Given the description of an element on the screen output the (x, y) to click on. 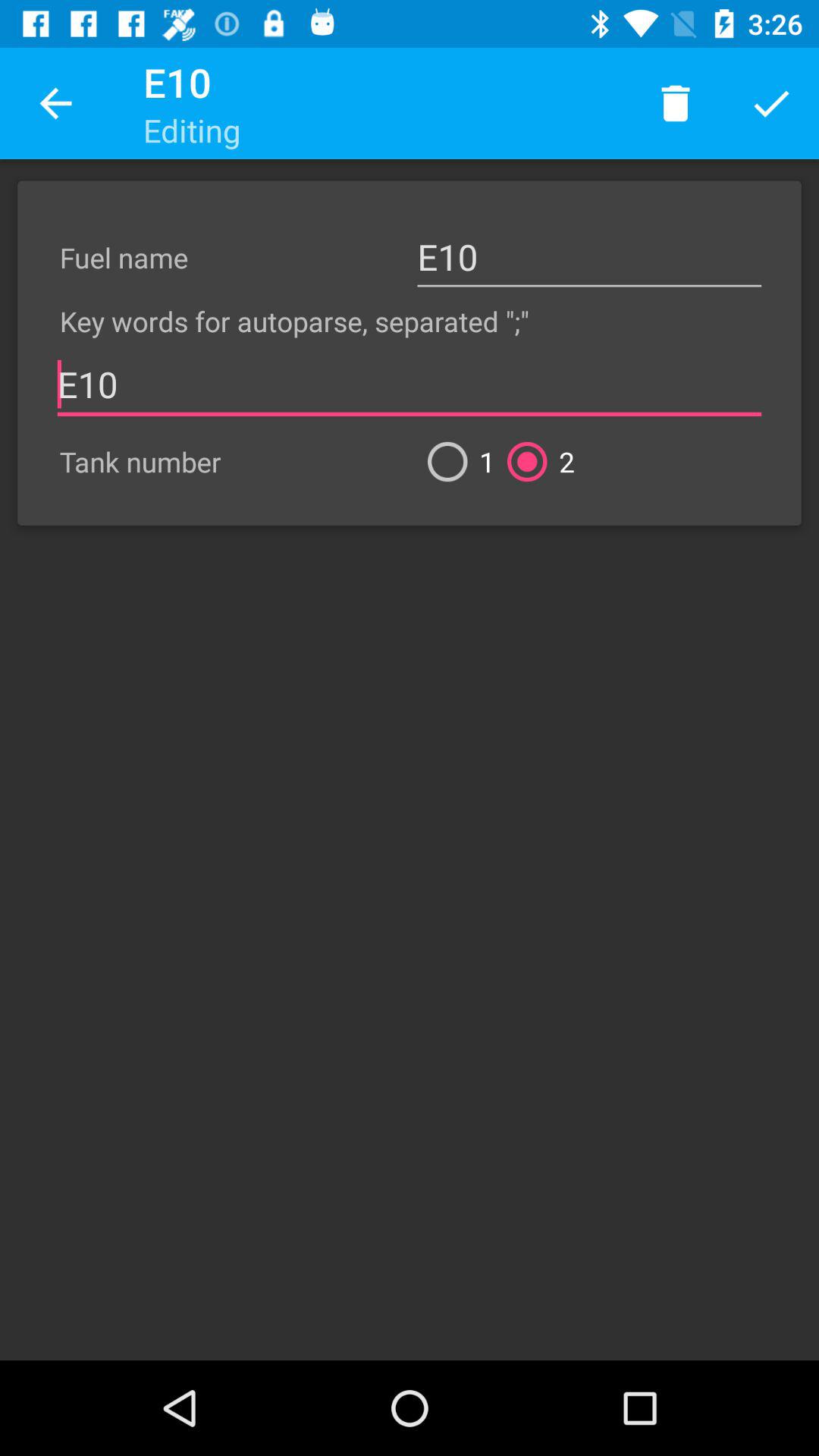
open item next to the tank number (455, 461)
